Given the description of an element on the screen output the (x, y) to click on. 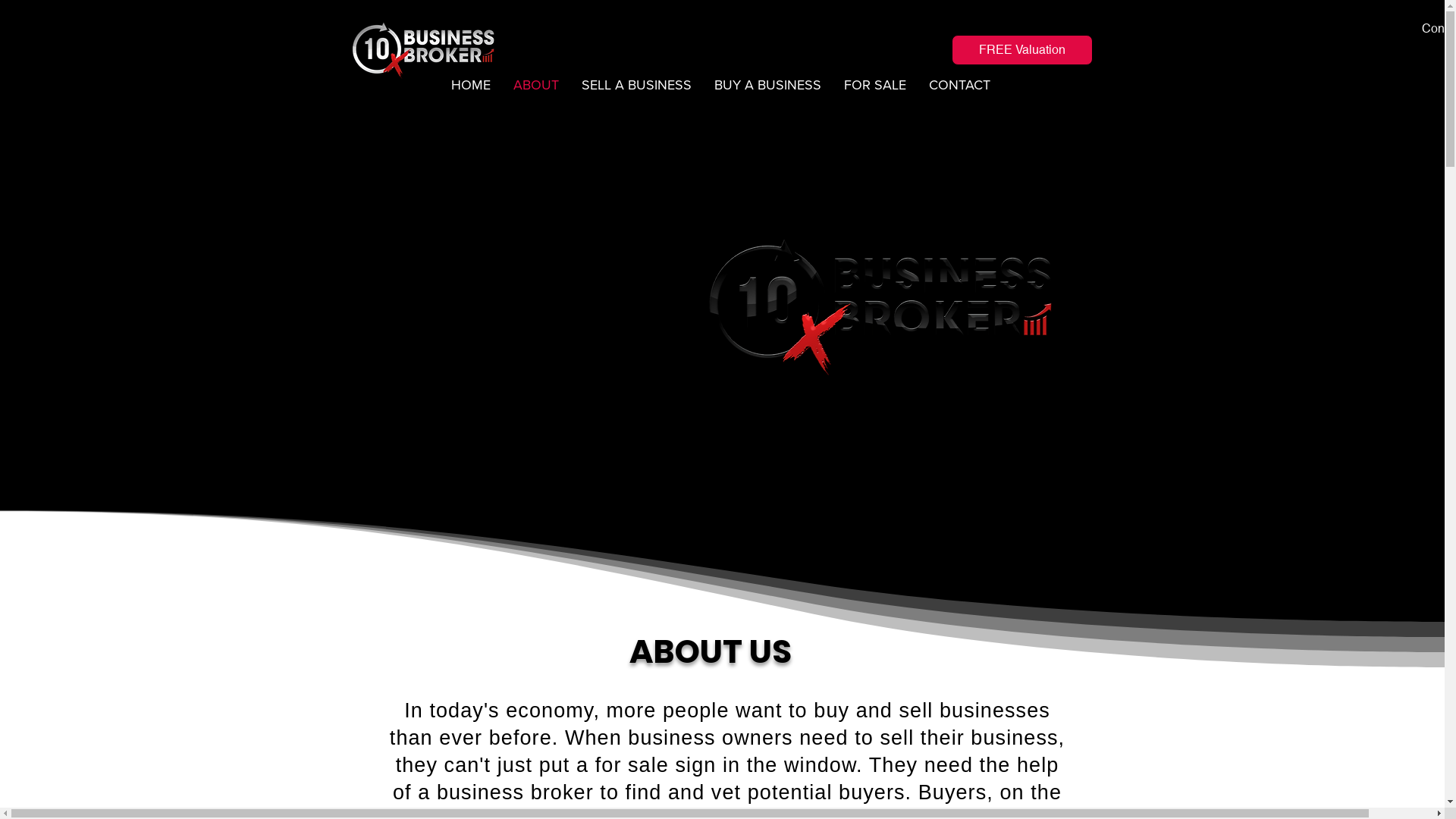
FOR SALE Element type: text (874, 84)
SELL A BUSINESS Element type: text (636, 84)
ABOUT Element type: text (536, 84)
BUY A BUSINESS Element type: text (767, 84)
FREE Valuation Element type: text (1021, 49)
CONTACT Element type: text (959, 84)
HOME Element type: text (470, 84)
